Given the description of an element on the screen output the (x, y) to click on. 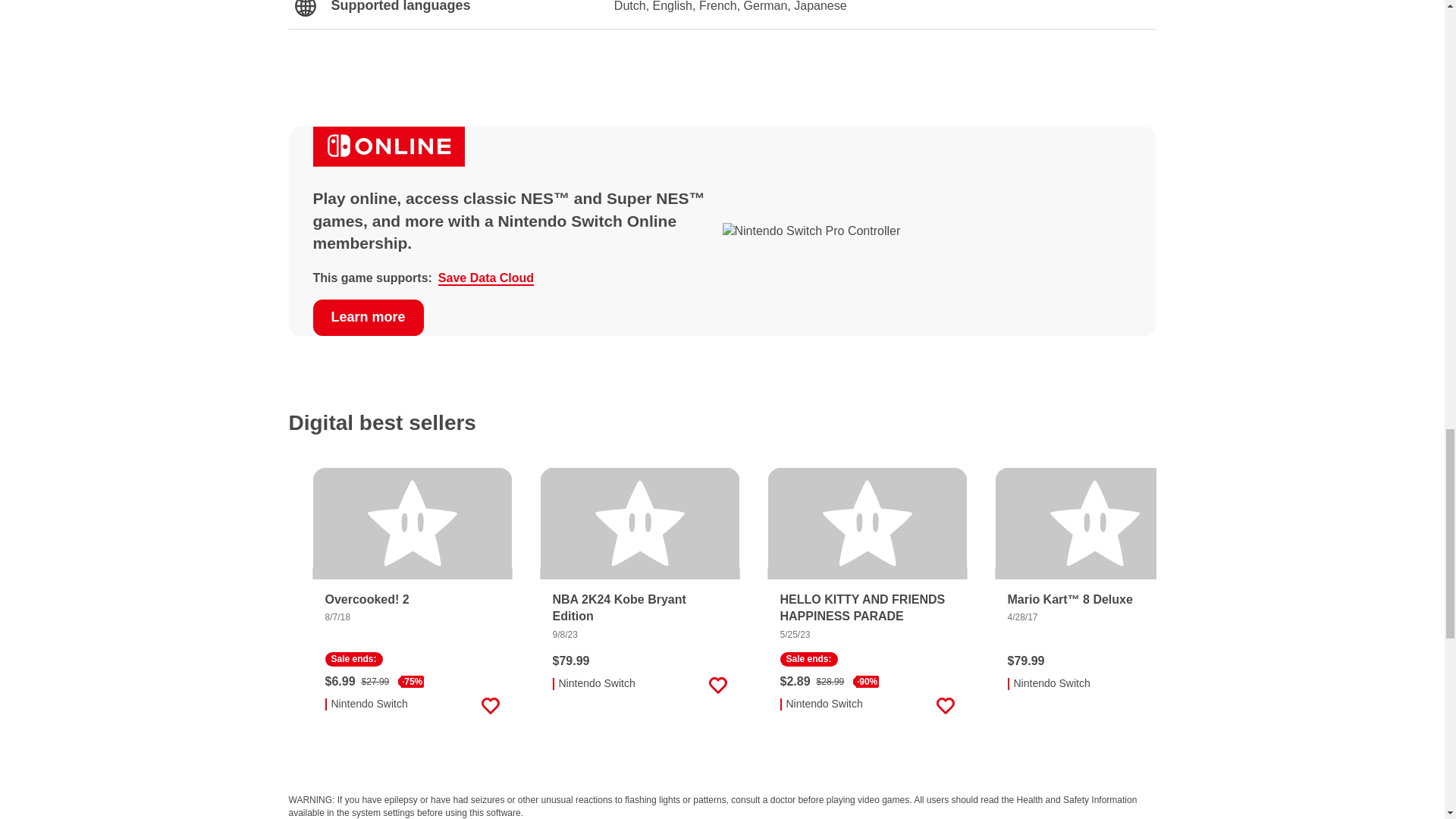
Add to Wish List (944, 705)
Add to Wish List (489, 705)
Add to Wish List (716, 685)
Add to Wish List (1172, 685)
